Given the description of an element on the screen output the (x, y) to click on. 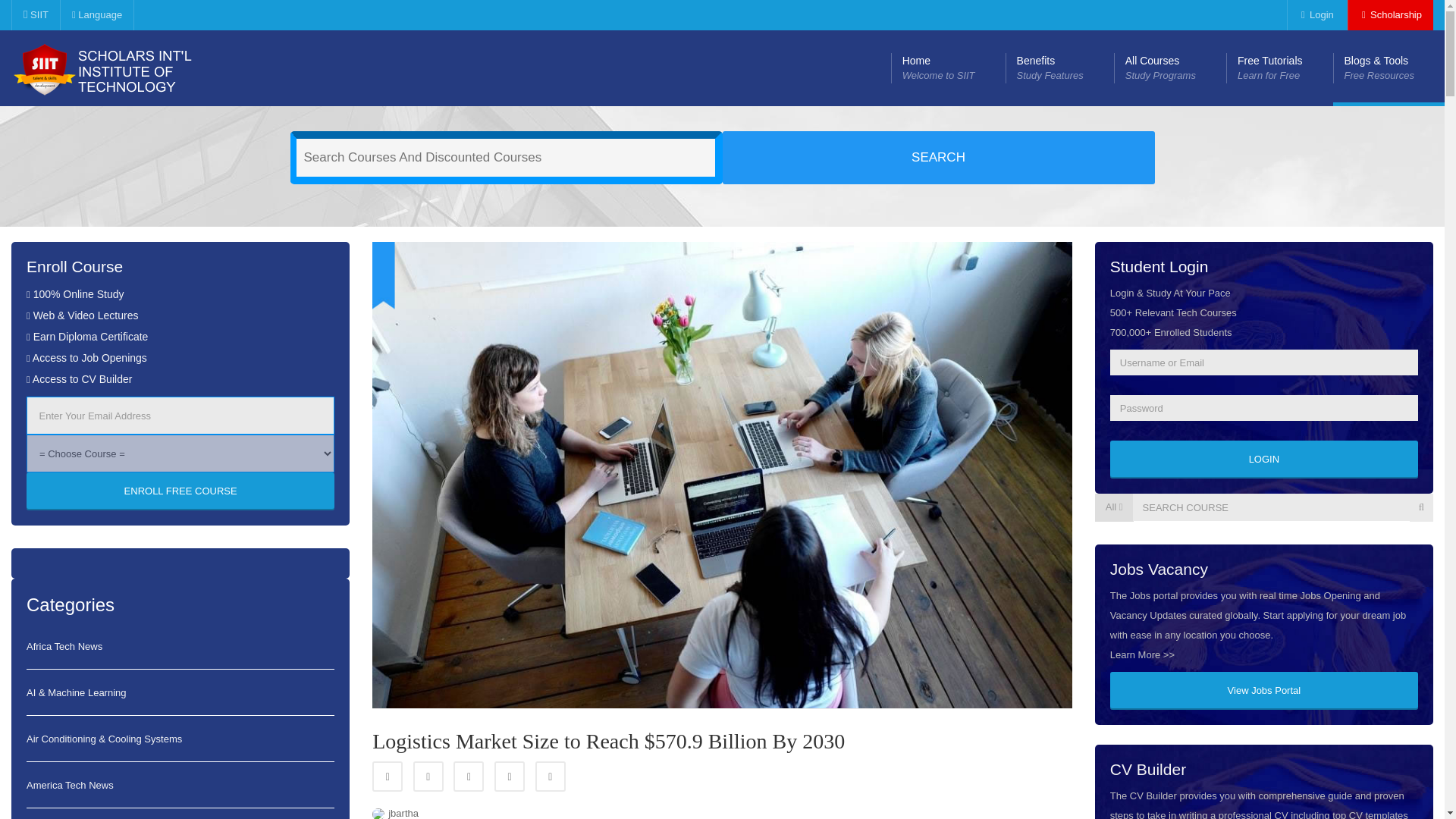
ENROLL FREE COURSE (180, 491)
View Jobs Portal (1263, 690)
SIIT (1279, 68)
Language (35, 15)
Login (96, 15)
Share on Facebook (948, 68)
Share on Google Plus (1315, 15)
Pin this (387, 776)
Scholarship (1059, 68)
Portal Login (1169, 68)
Share on Twitter (467, 776)
